Given the description of an element on the screen output the (x, y) to click on. 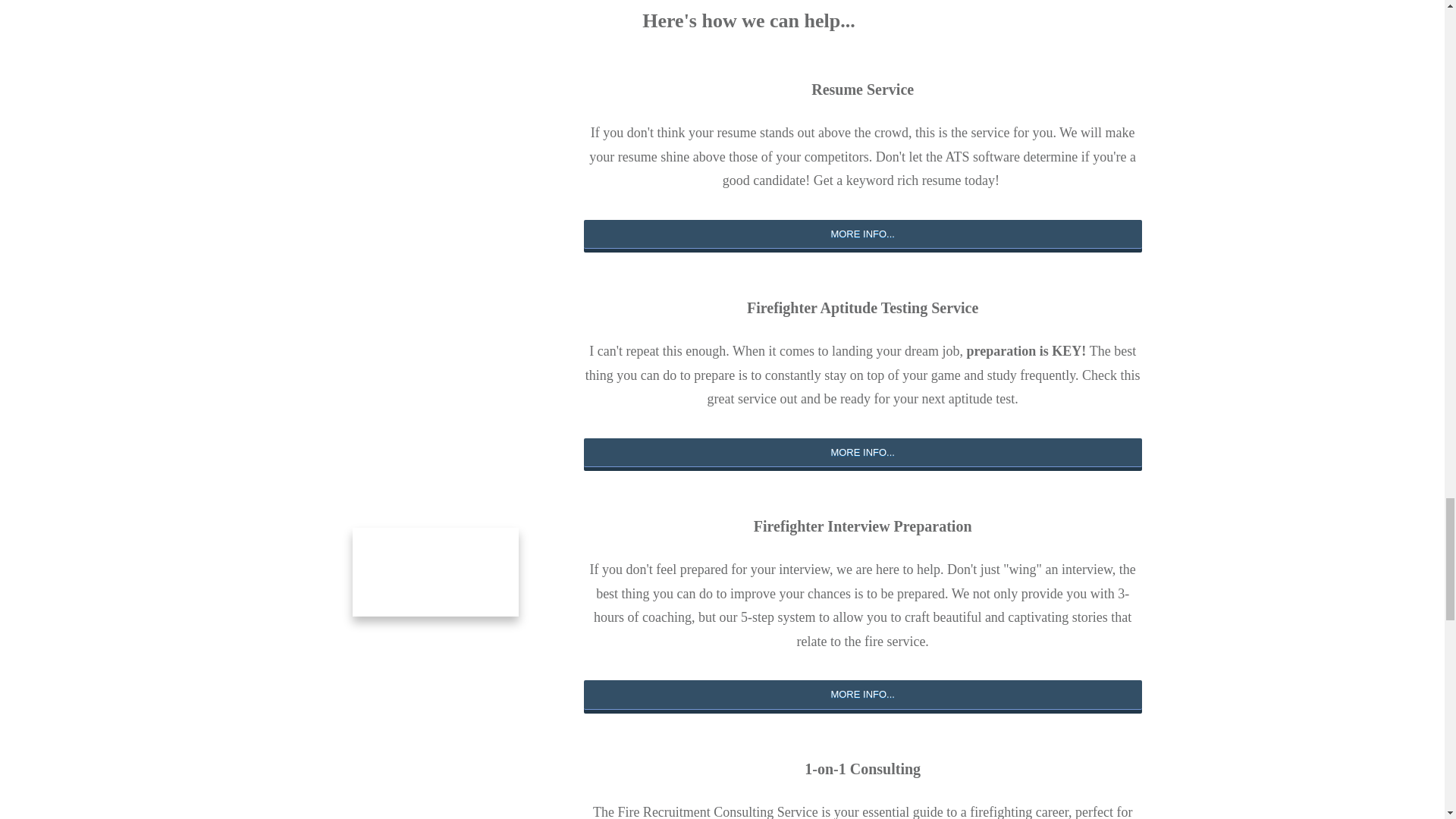
resume-icon-png-5 (435, 147)
jobtestprep (435, 365)
Mastering Eligibility and Application (435, 794)
